Given the description of an element on the screen output the (x, y) to click on. 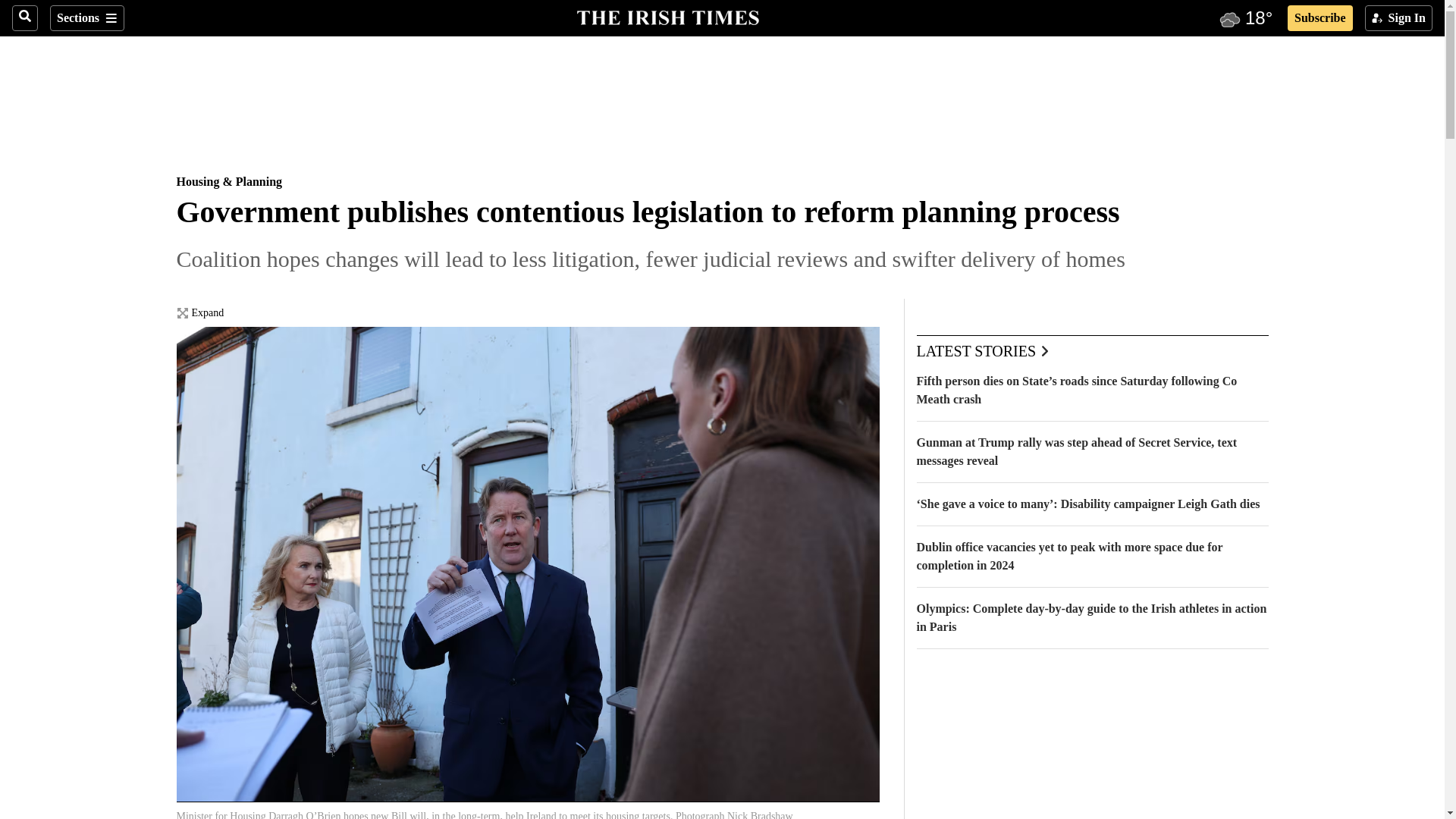
The Irish Times (667, 16)
Subscribe (1319, 17)
Sign In (1398, 17)
Sections (86, 17)
